Given the description of an element on the screen output the (x, y) to click on. 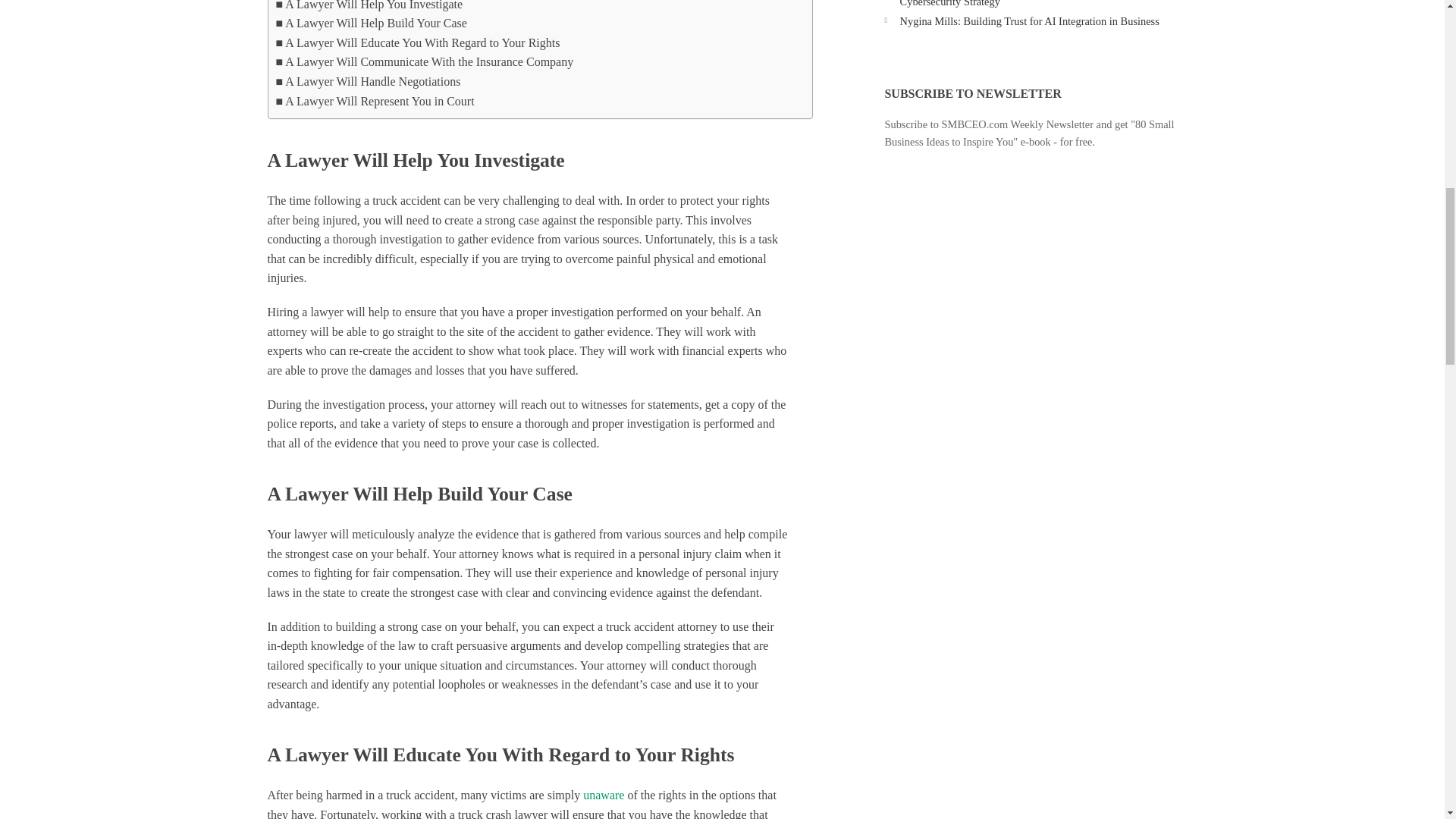
A Lawyer Will Handle Negotiations (368, 81)
A Lawyer Will Help Build Your Case (371, 23)
A Lawyer Will Help Build Your Case (371, 23)
A Lawyer Will Educate You With Regard to Your Rights (418, 43)
unaware (603, 794)
A Lawyer Will Help You Investigate (369, 7)
A Lawyer Will Educate You With Regard to Your Rights (418, 43)
A Lawyer Will Communicate With the Insurance Company (424, 62)
A Lawyer Will Represent You in Court (375, 101)
A Lawyer Will Represent You in Court (375, 101)
A Lawyer Will Handle Negotiations (368, 81)
A Lawyer Will Help You Investigate (369, 7)
A Lawyer Will Communicate With the Insurance Company (424, 62)
